Given the description of an element on the screen output the (x, y) to click on. 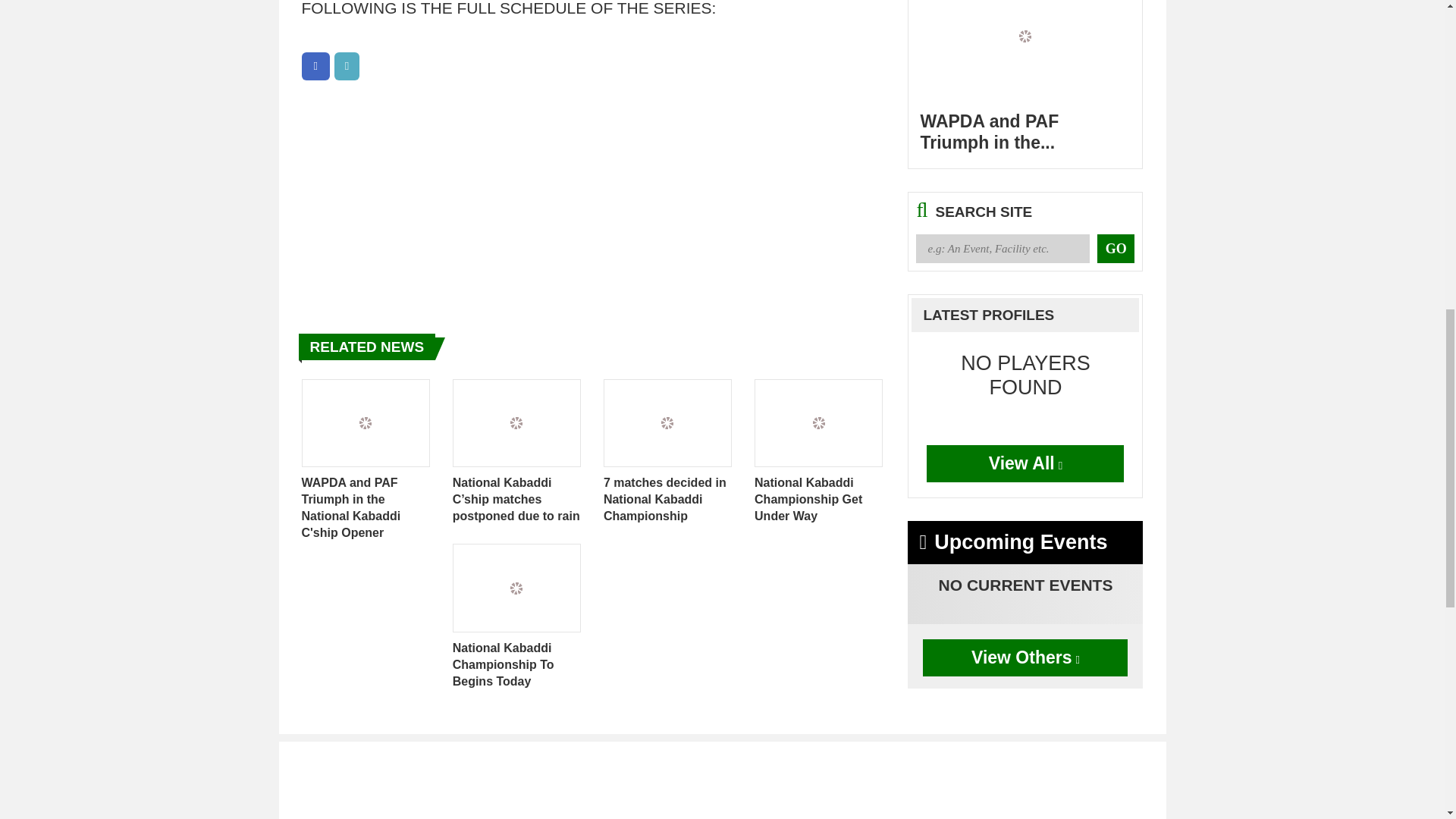
tri-nation-kabaddi-series-2019-gets-underway (315, 66)
Advertisement (722, 780)
tri-nation-kabaddi-series-2019-gets-underway (346, 66)
Advertisement (593, 201)
